Given the description of an element on the screen output the (x, y) to click on. 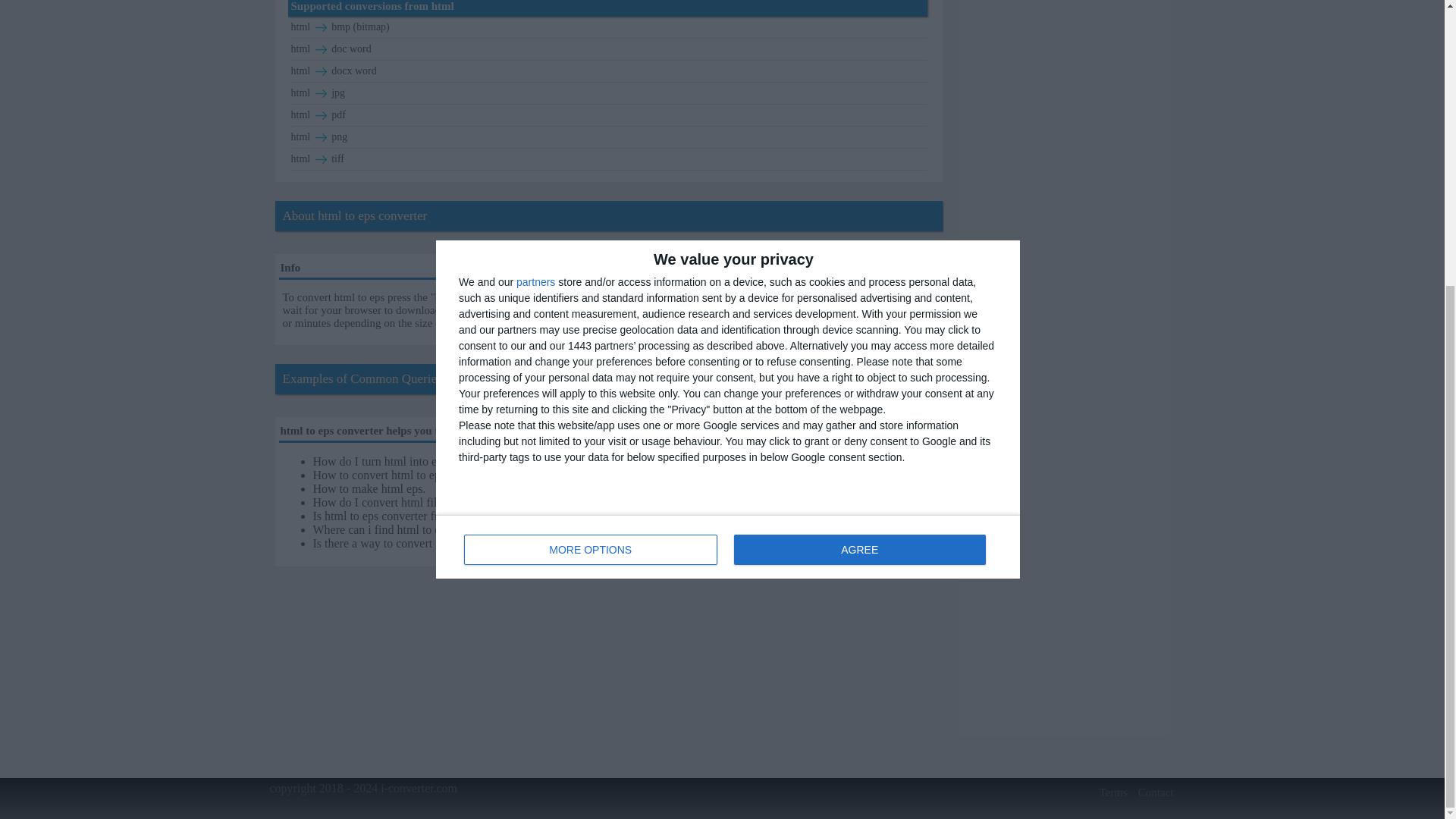
AGREE (727, 115)
convert to (859, 118)
html jpg (320, 49)
convert to (608, 92)
MORE OPTIONS (320, 71)
convert to (590, 118)
html doc word (320, 27)
html docx word (608, 48)
